Given the description of an element on the screen output the (x, y) to click on. 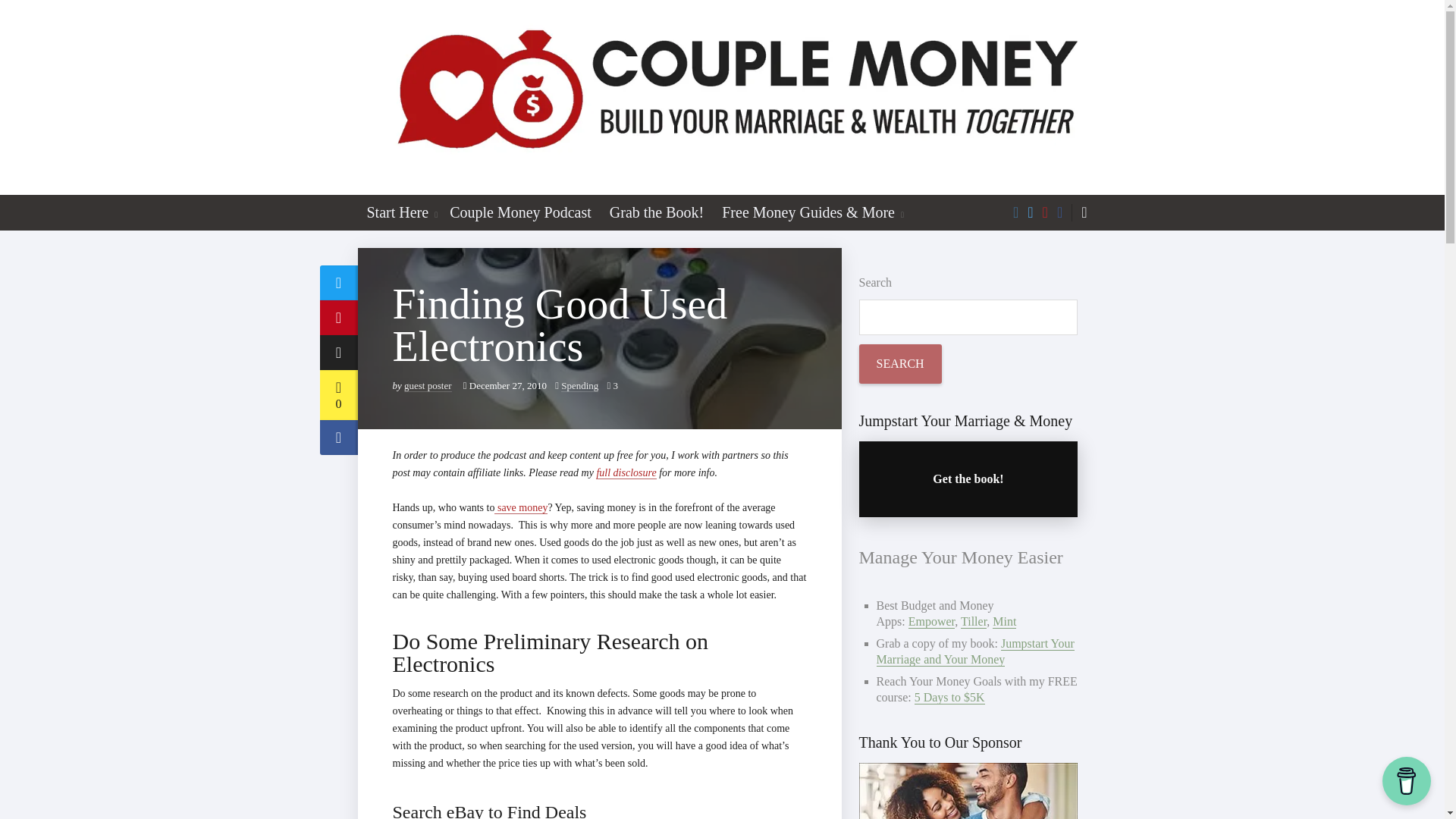
Spending (579, 385)
3 (612, 384)
Couple Money Podcast (520, 212)
Start Here (395, 212)
save money (521, 508)
Grab the Book! (656, 212)
 save money (521, 508)
guest poster (427, 385)
full disclosure (625, 472)
Couple Money (722, 97)
